Given the description of an element on the screen output the (x, y) to click on. 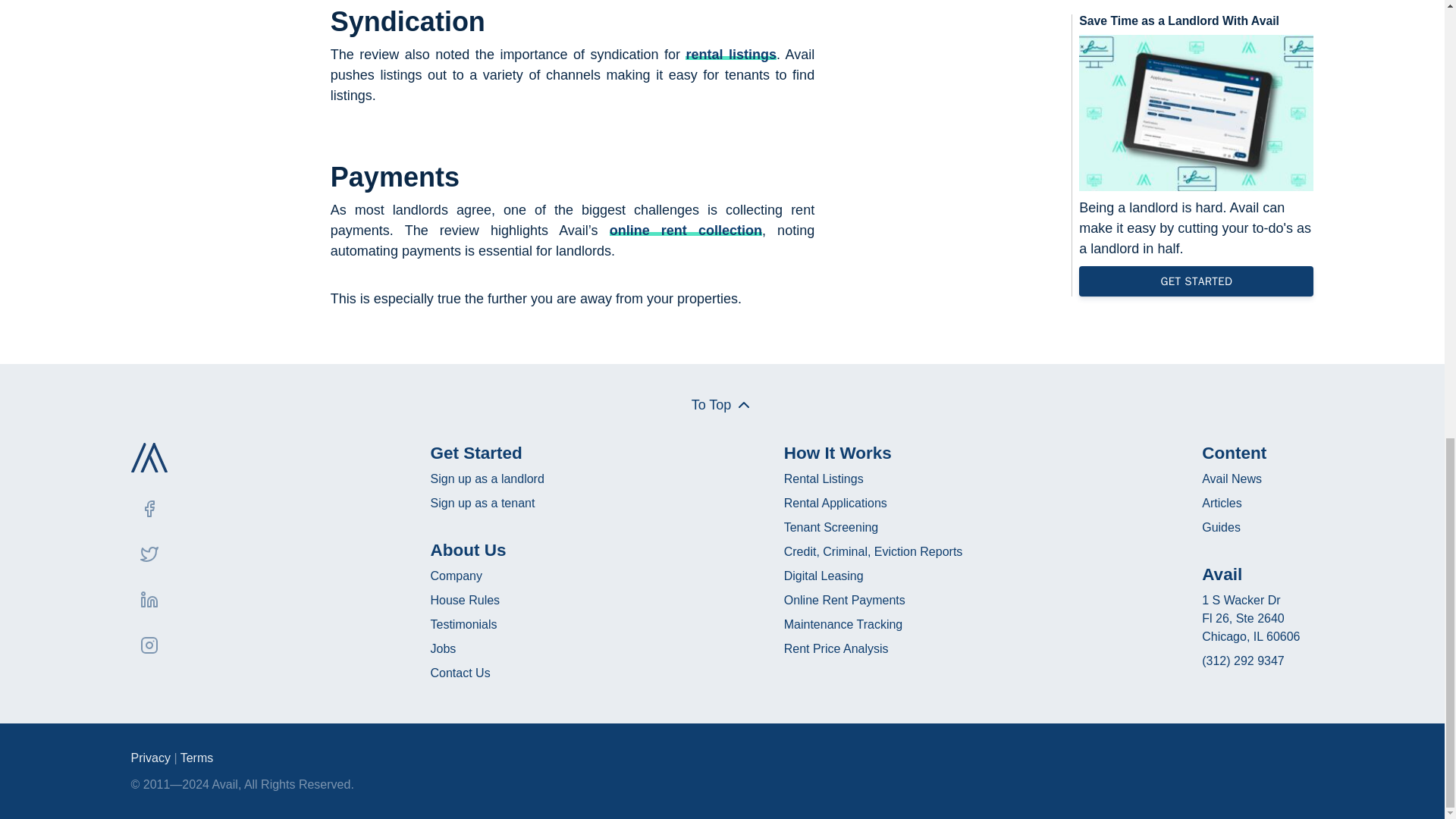
Instagram (149, 645)
To Avail homepage (149, 457)
Facebook (149, 508)
Linkedin (149, 599)
Twitter (149, 554)
